Given the description of an element on the screen output the (x, y) to click on. 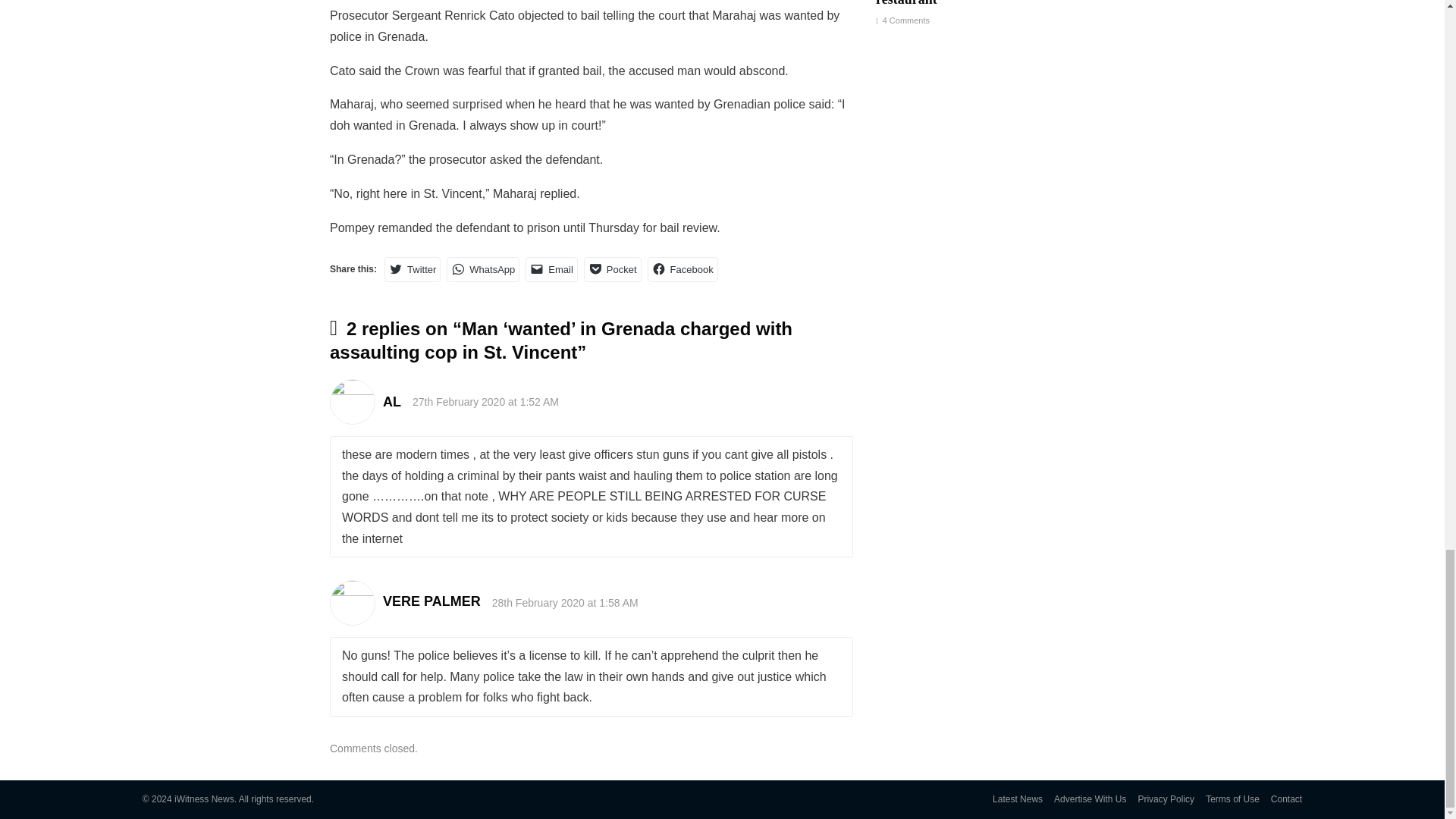
Click to share on Pocket (612, 269)
28th February 2020 at 1:58 AM (565, 603)
Click to email a link to a friend (551, 269)
Click to share on WhatsApp (482, 269)
27th February 2020 at 1:52 AM (485, 401)
Click to share on Facebook (682, 269)
Click to share on Twitter (412, 269)
